Given the description of an element on the screen output the (x, y) to click on. 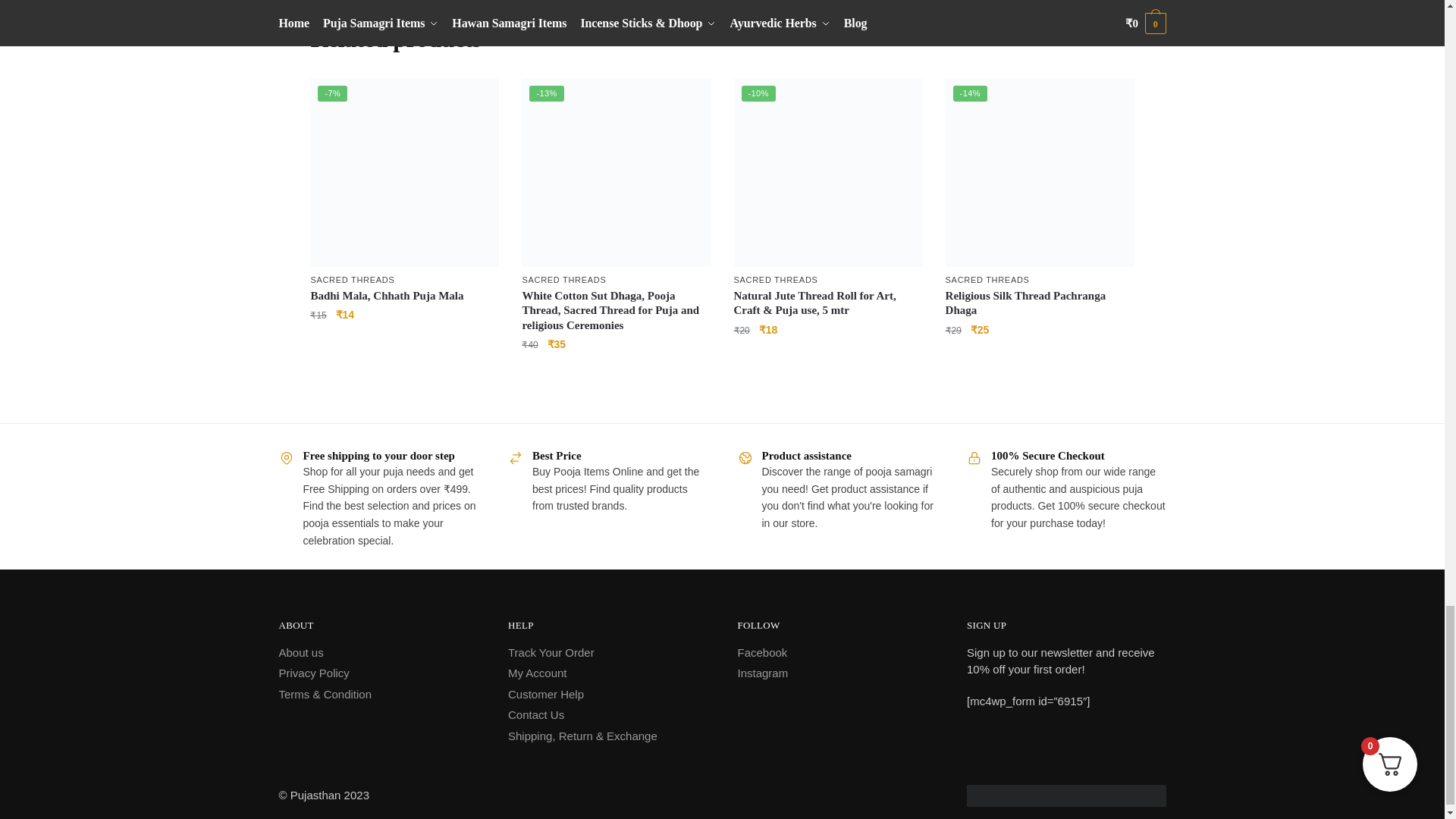
Badhi Mala, Chhath Puja Mala (404, 171)
Religious Silk Thread Pachranga Dhaga (1039, 171)
